Given the description of an element on the screen output the (x, y) to click on. 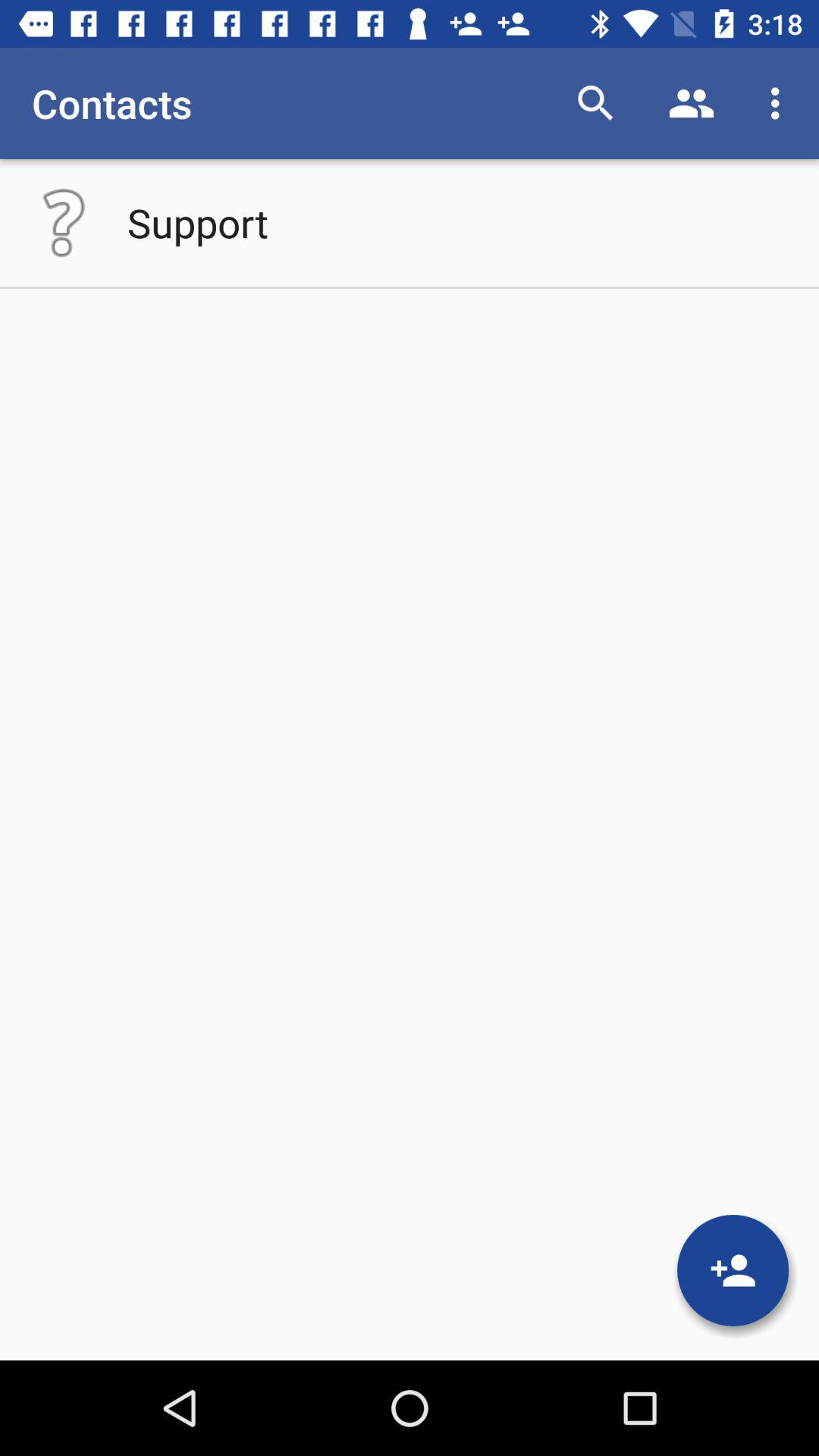
select the icon below contacts icon (63, 222)
